Given the description of an element on the screen output the (x, y) to click on. 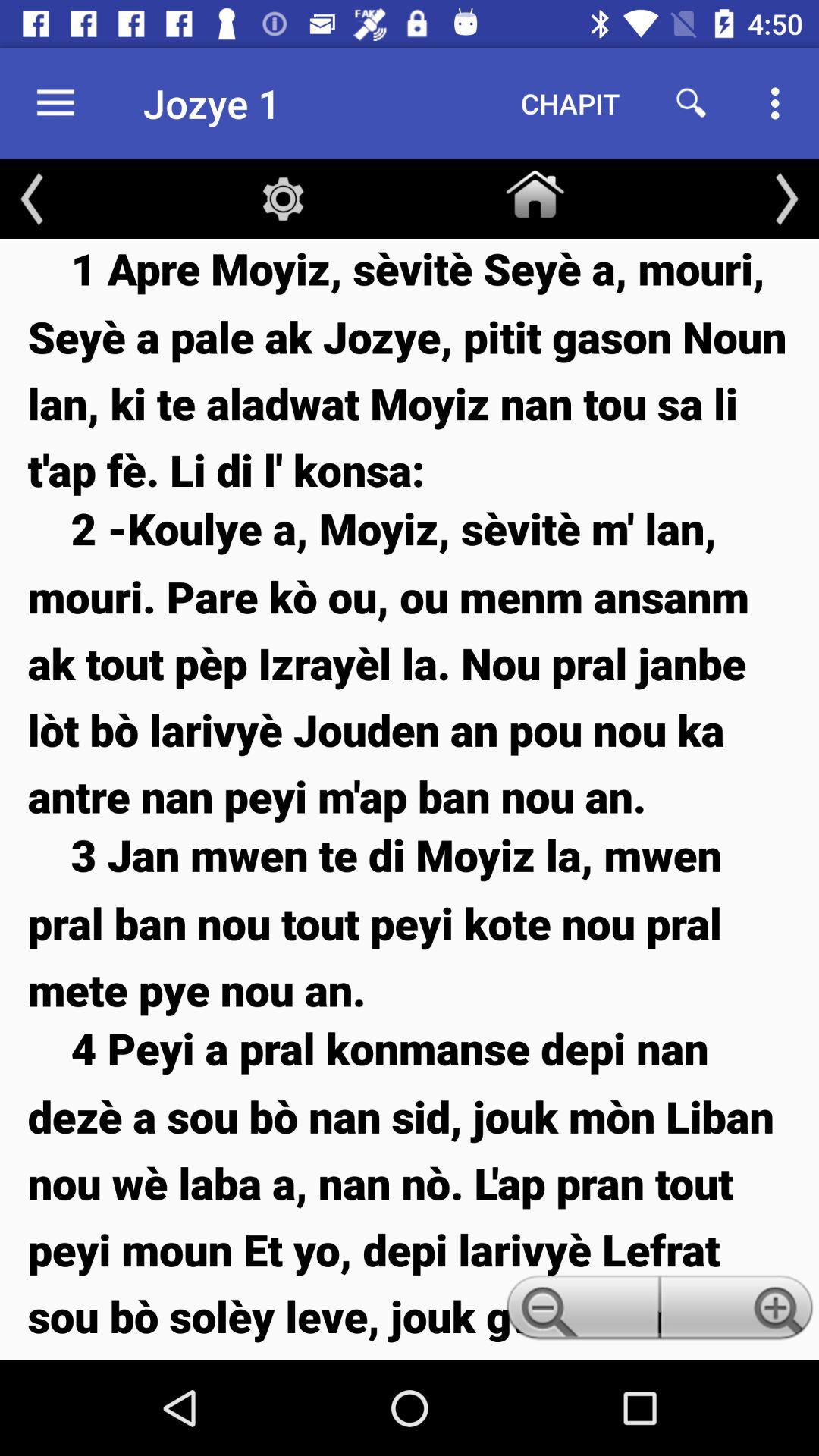
choose chapit icon (570, 103)
